Given the description of an element on the screen output the (x, y) to click on. 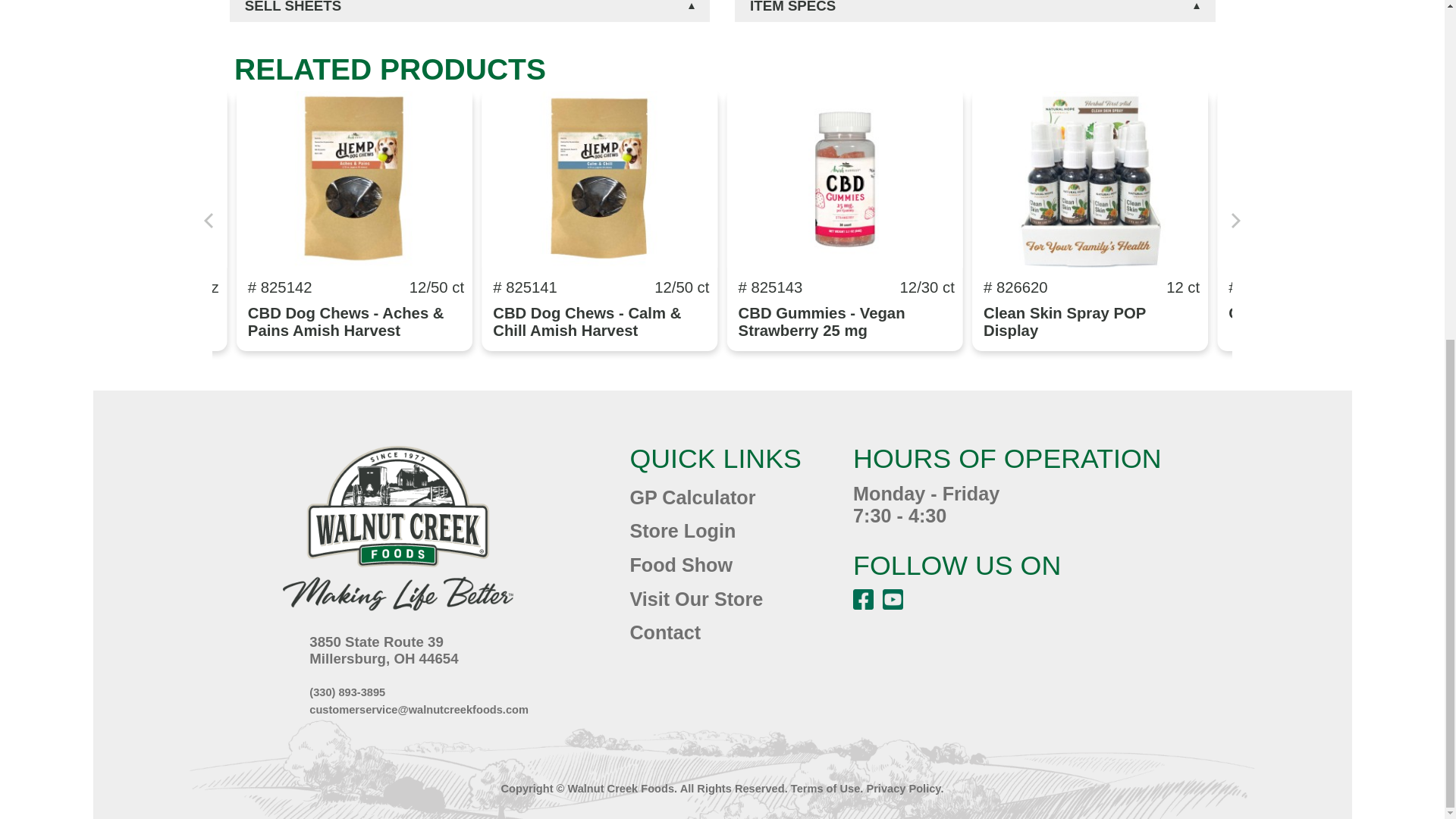
Collagen - Simple Foods (1317, 312)
CBD Gummies - Vegan Strawberry 25 mg (821, 321)
Clean Skin Spray POP Display (1064, 321)
ITEM SPECS (975, 11)
SELL SHEETS (469, 11)
